Given the description of an element on the screen output the (x, y) to click on. 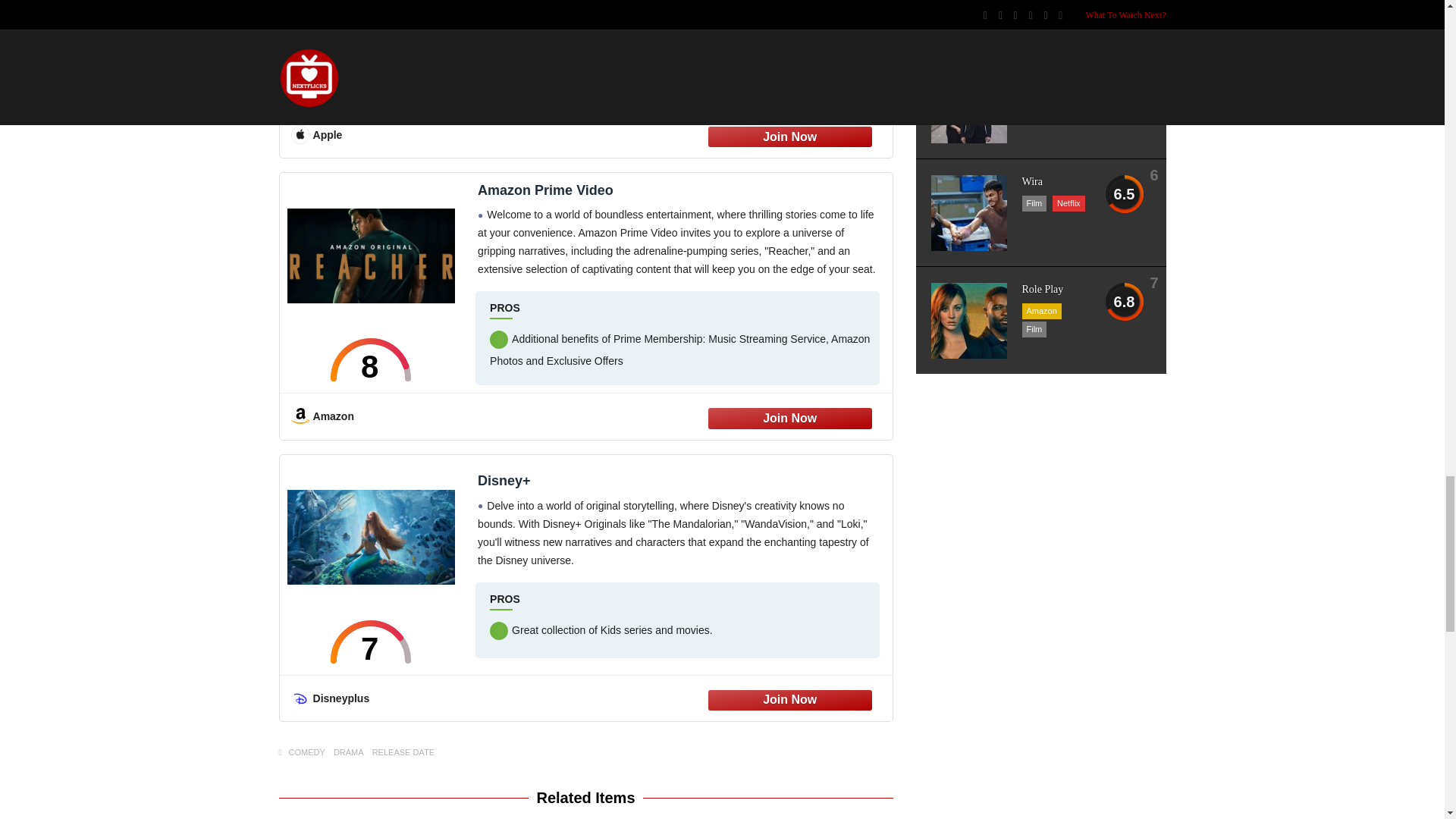
8 (371, 359)
7 (371, 641)
9 (371, 77)
